Given the description of an element on the screen output the (x, y) to click on. 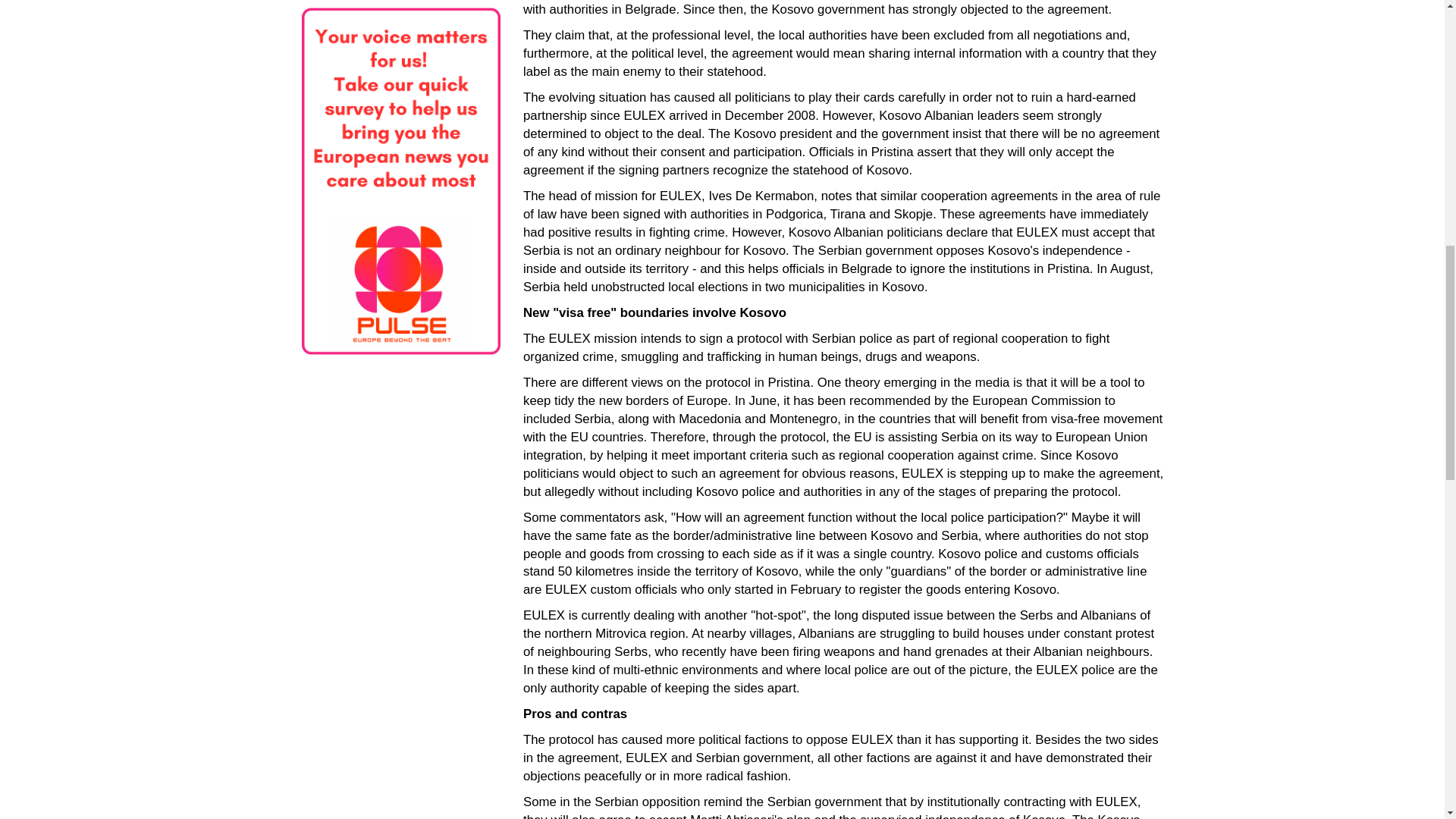
Pulse UE (400, 181)
